Given the description of an element on the screen output the (x, y) to click on. 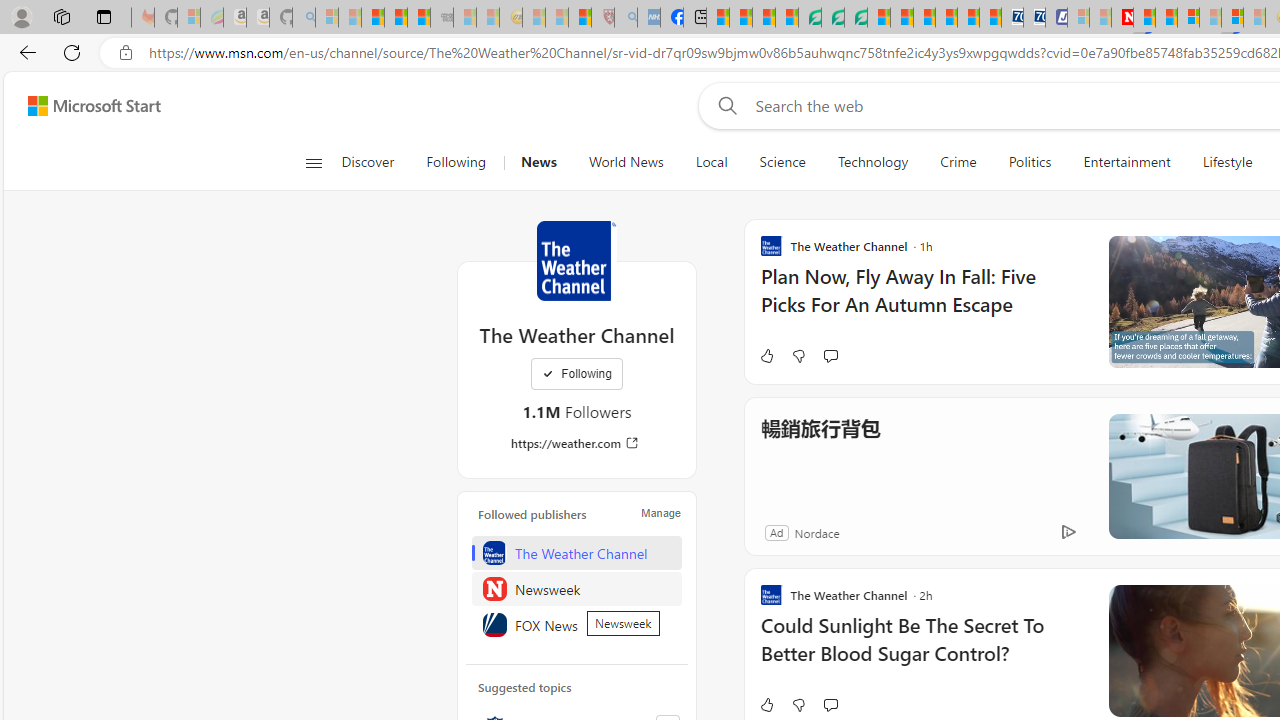
Microsoft Word - consumer-privacy address update 2.2021 (855, 17)
The Weather Channel (577, 552)
https://weather.com (576, 443)
Plan Now, Fly Away In Fall: Five Picks For An Autumn Escape (922, 300)
